Given the description of an element on the screen output the (x, y) to click on. 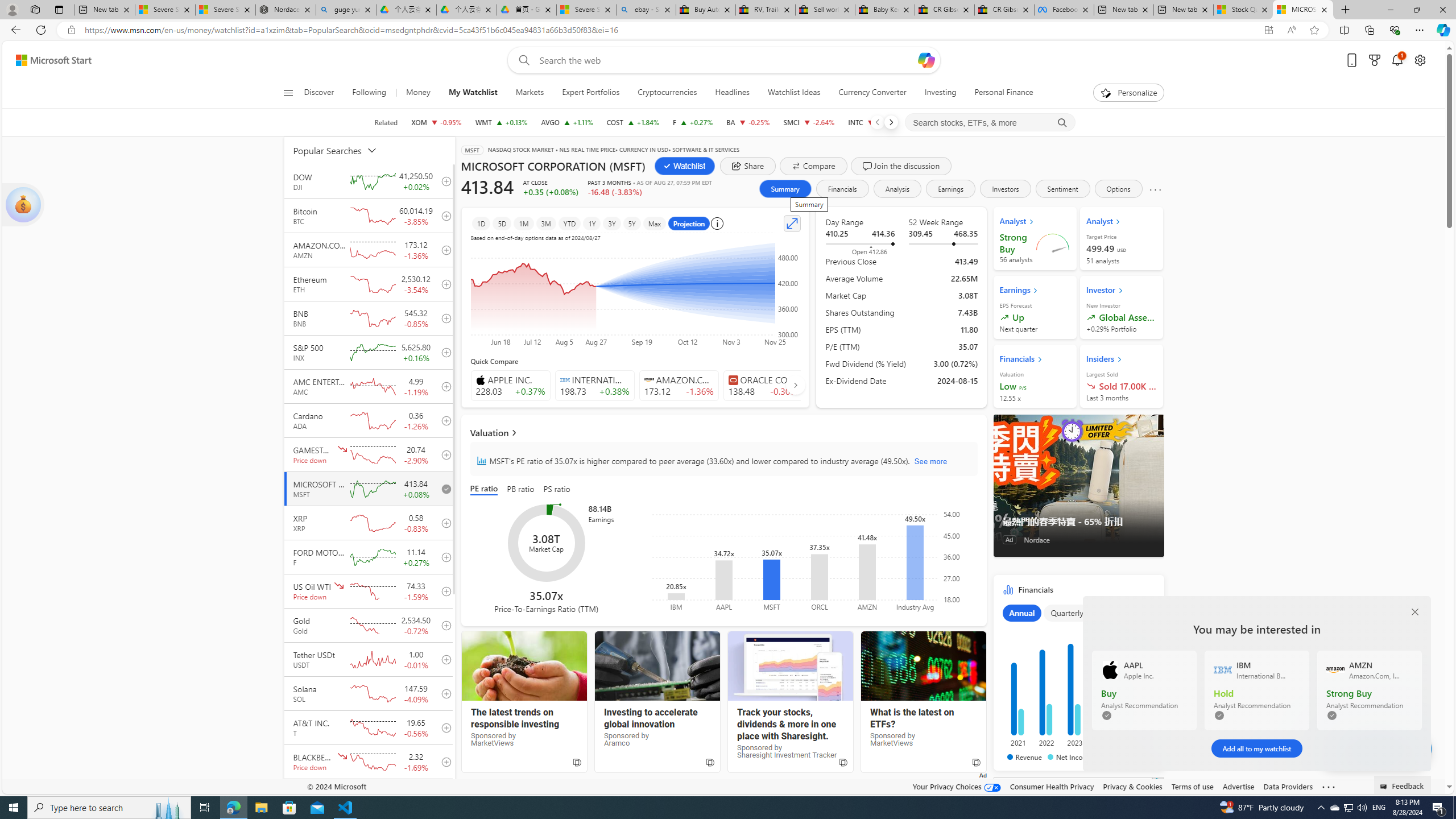
Annual (1021, 612)
Restore (1416, 9)
Close (1442, 9)
Class: oneFooter_seeMore-DS-EntryPoint1-1 (1328, 786)
Class: cwt-icon-vector (1395, 748)
Investors (1004, 188)
Popular Searches (341, 150)
Money (418, 92)
Open navigation menu (287, 92)
Next (890, 122)
Money (417, 92)
1M (523, 223)
Settings and more (Alt+F) (1419, 29)
